Given the description of an element on the screen output the (x, y) to click on. 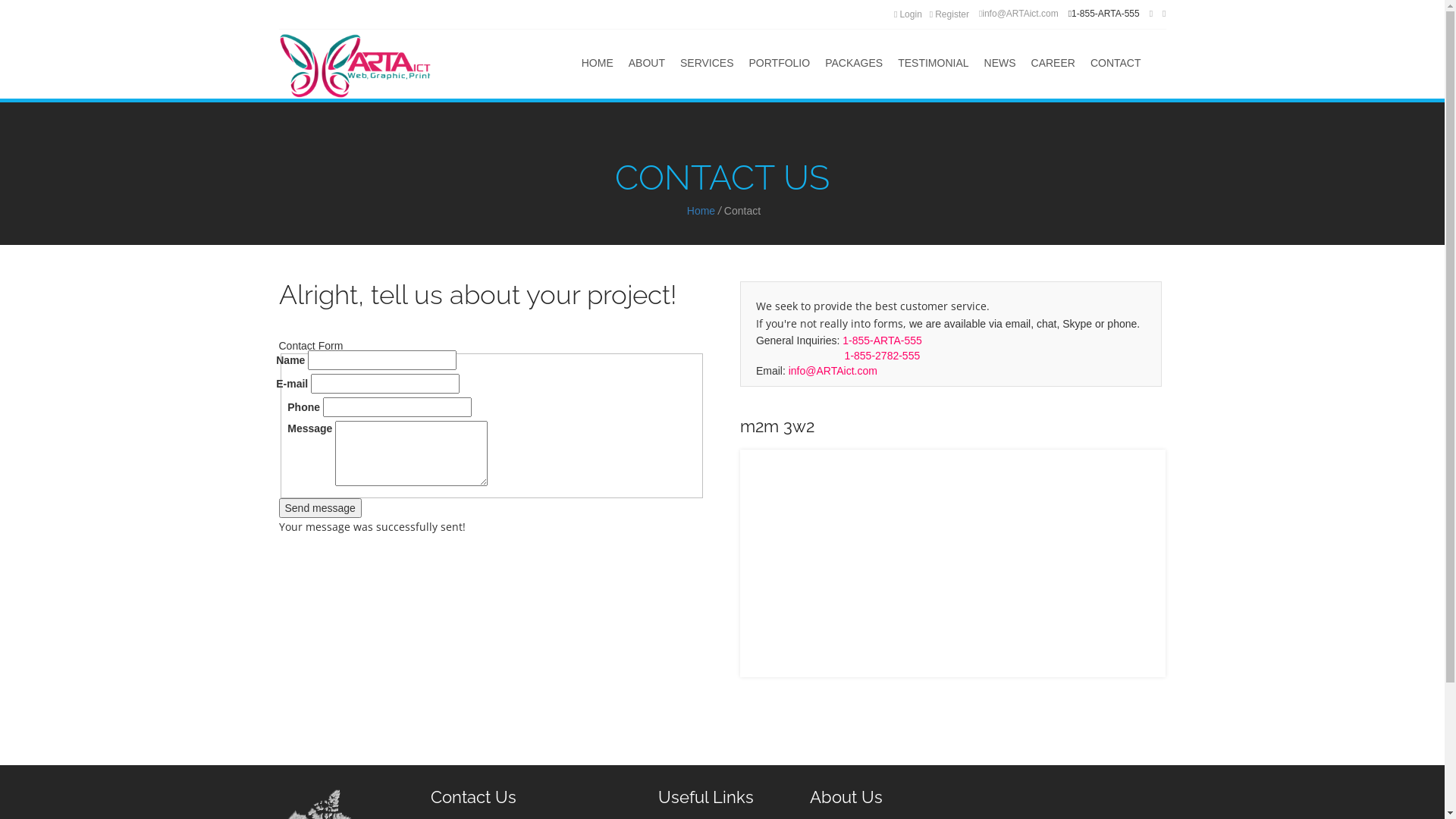
Send message Element type: text (320, 507)
PACKAGES Element type: text (853, 63)
CONTACT Element type: text (1115, 63)
PORTFOLIO Element type: text (779, 63)
SERVICES Element type: text (706, 63)
Home Element type: text (701, 210)
NEWS Element type: text (999, 63)
Login Element type: text (908, 14)
HOME Element type: text (597, 63)
CAREER Element type: text (1052, 63)
Button Element type: text (21, 9)
info@ARTAict.com Element type: text (1018, 13)
ABOUT Element type: text (646, 63)
TESTIMONIAL Element type: text (932, 63)
Register Element type: text (949, 14)
